Given the description of an element on the screen output the (x, y) to click on. 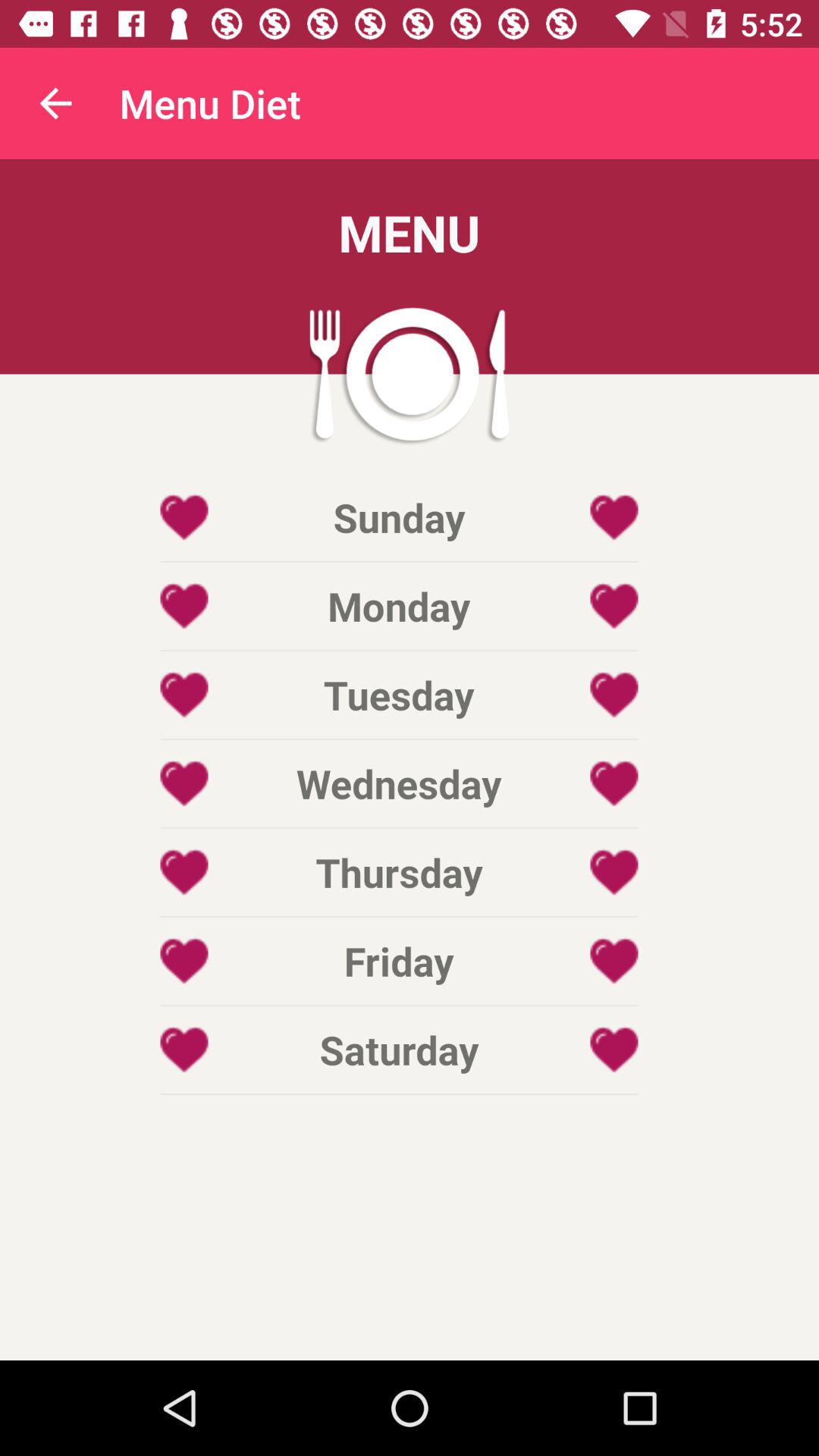
press item below thursday item (398, 960)
